Given the description of an element on the screen output the (x, y) to click on. 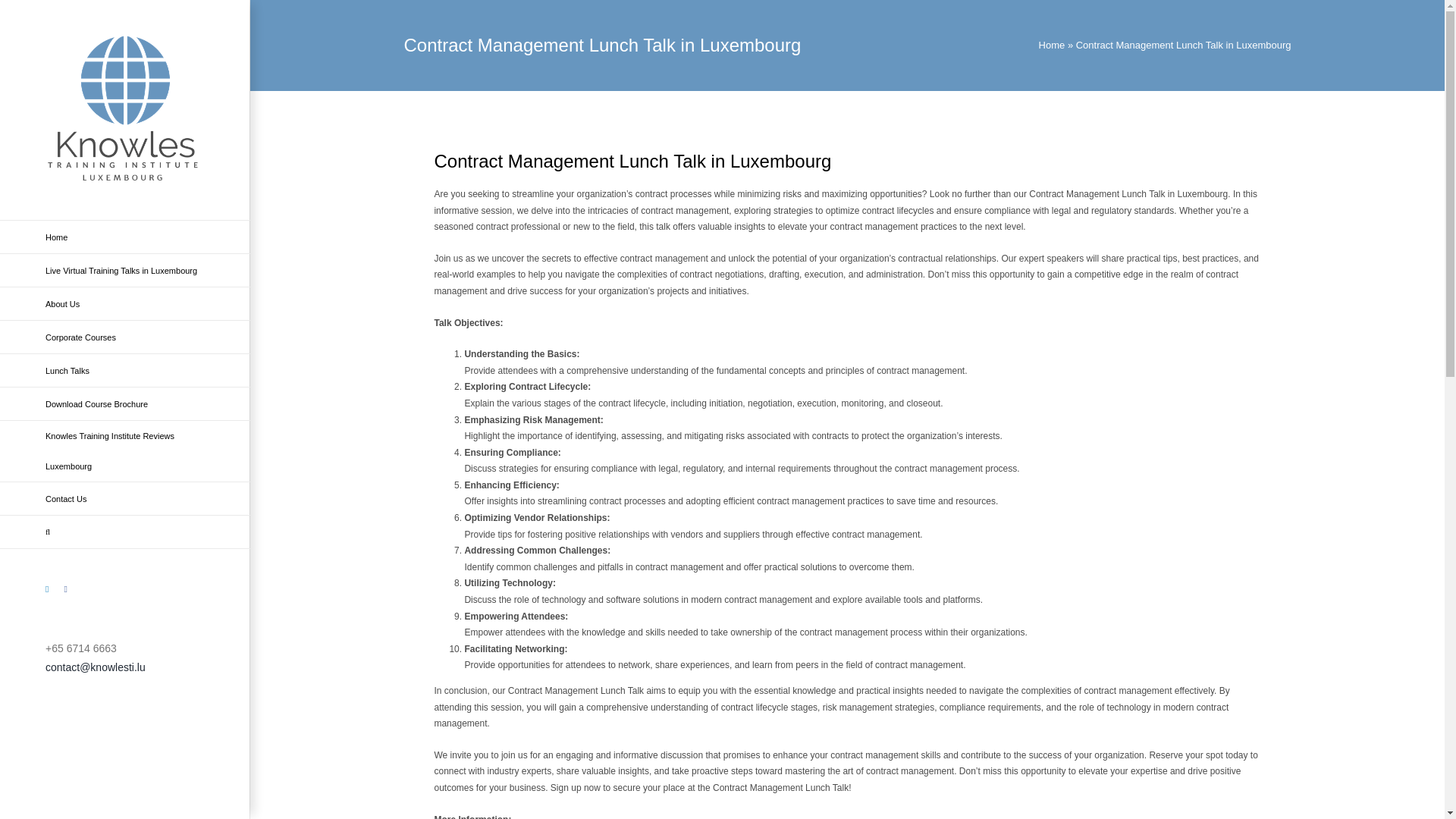
Home (1052, 44)
Corporate Courses (125, 337)
Contact Us (125, 498)
Search (125, 531)
Lunch Talks (125, 370)
Knowles Training Institute Reviews Luxembourg (125, 451)
About Us (125, 304)
Home (125, 236)
Live Virtual Training Talks in Luxembourg (125, 270)
Download Course Brochure (125, 403)
